Given the description of an element on the screen output the (x, y) to click on. 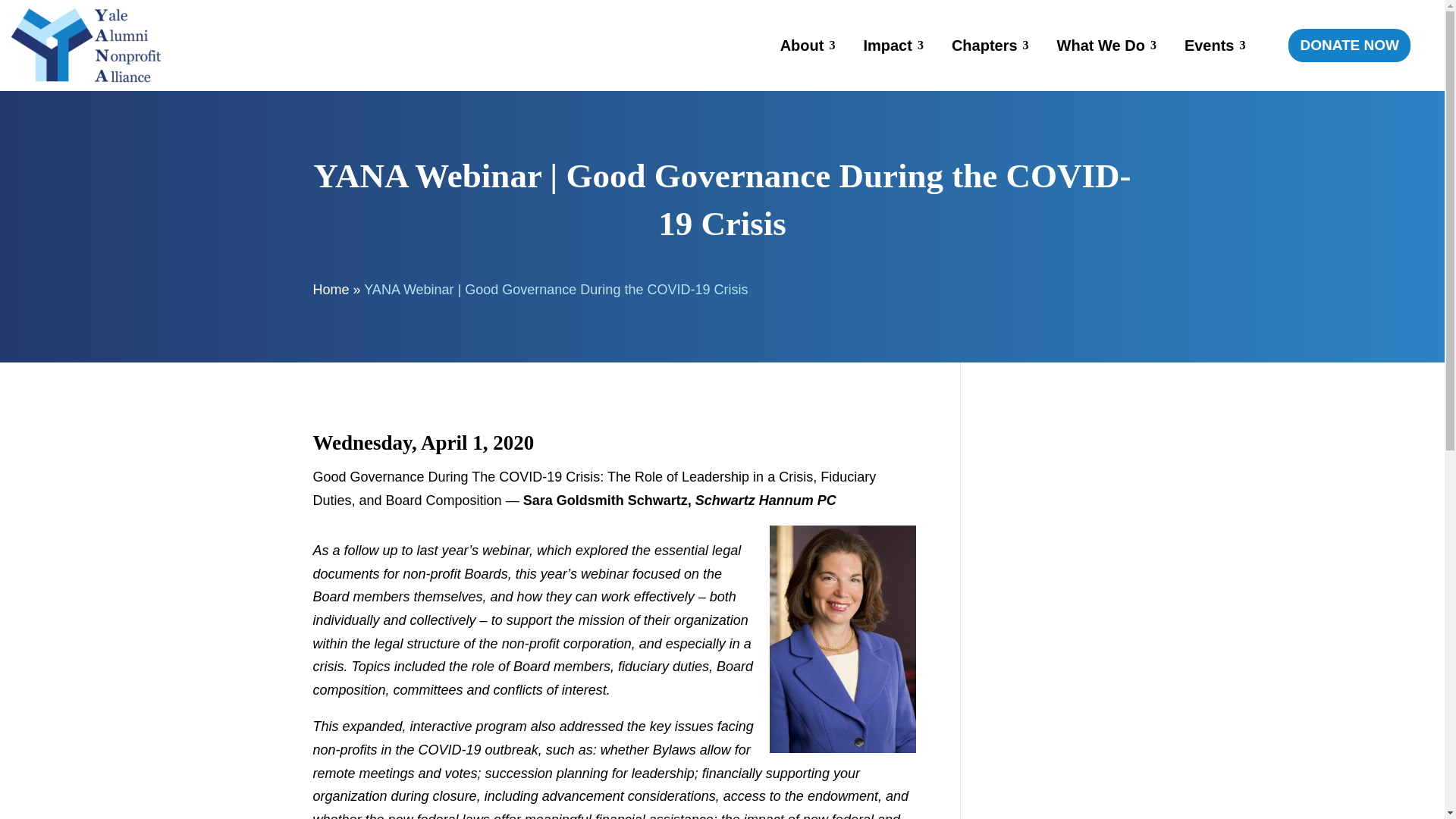
What We Do (1100, 45)
Impact (887, 45)
Chapters (984, 45)
